Given the description of an element on the screen output the (x, y) to click on. 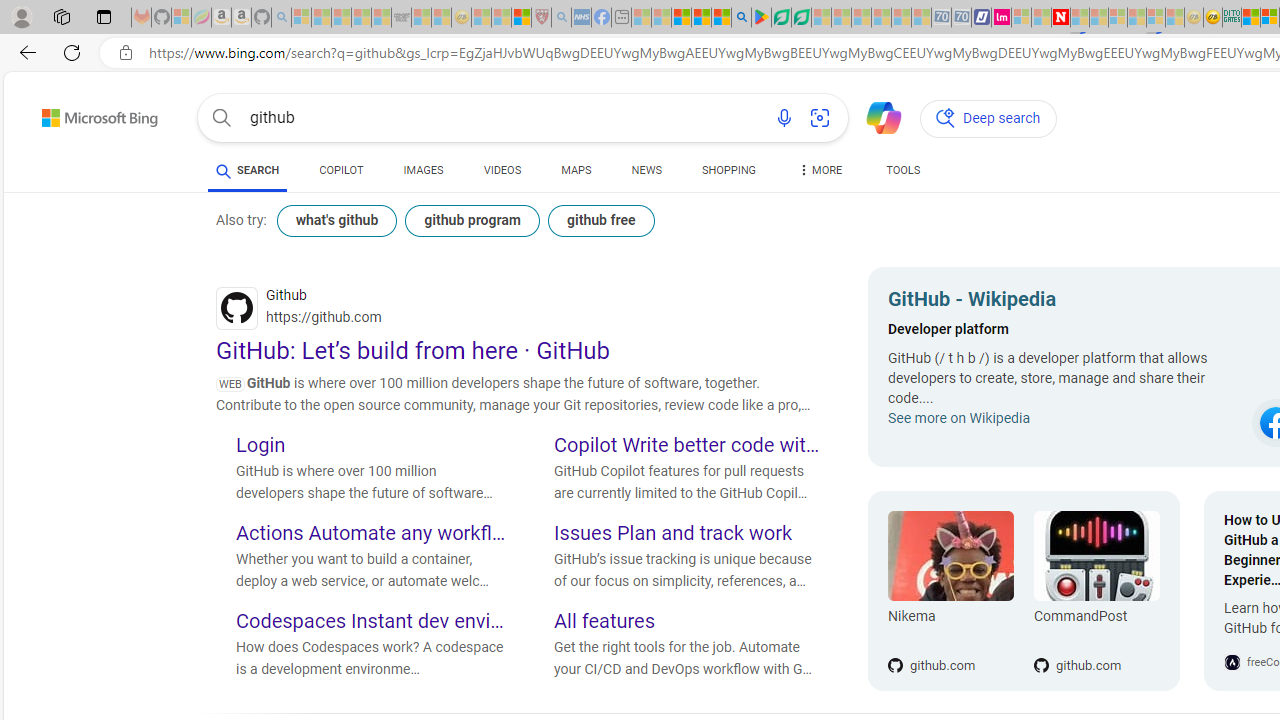
TOOLS (903, 173)
Pets - MSN (701, 17)
Copilot Write better code with AI (689, 446)
